Given the description of an element on the screen output the (x, y) to click on. 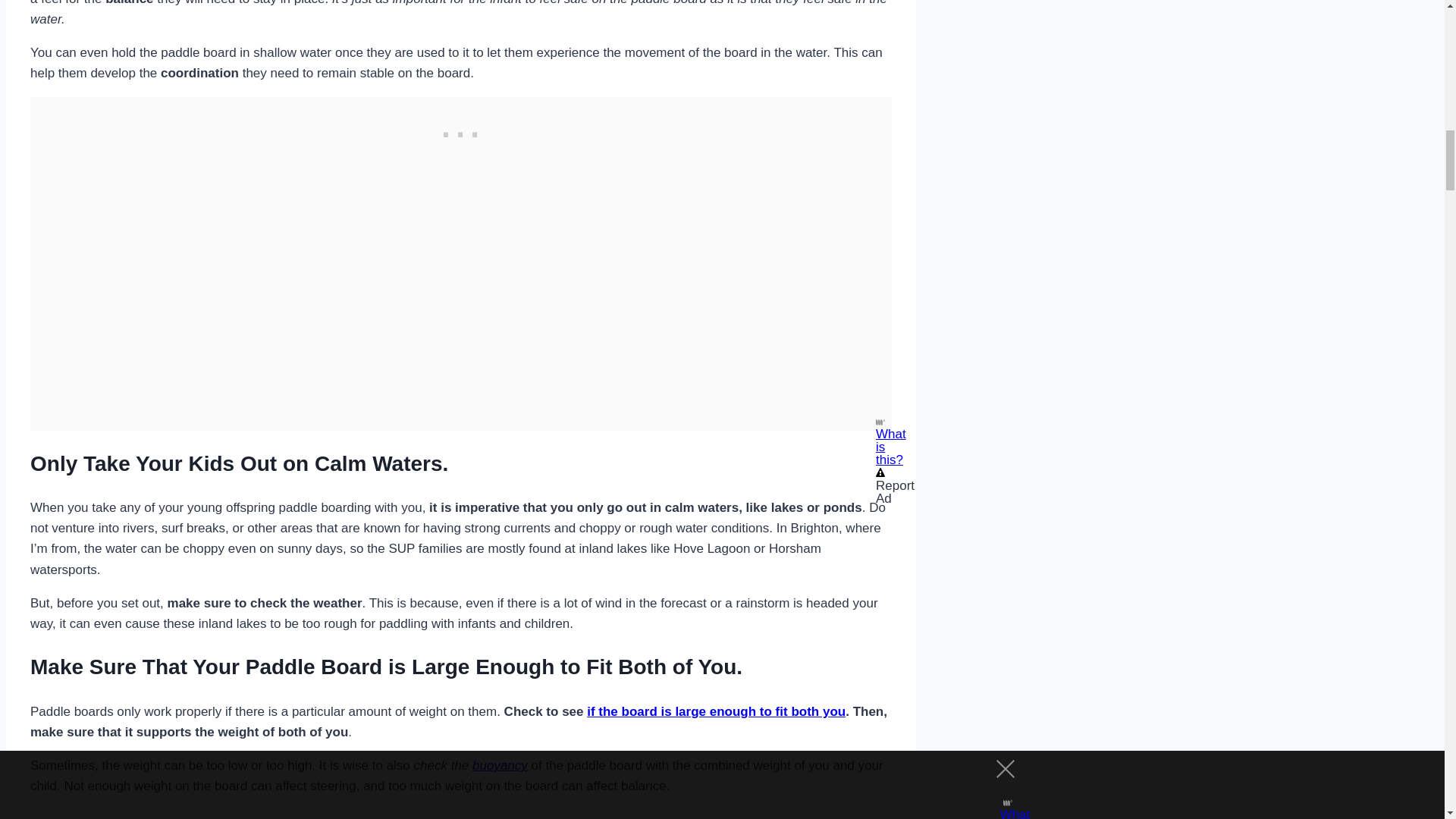
if the board is large enough to fit both you (715, 711)
3rd party ad content (460, 131)
buoyancy (499, 765)
